Given the description of an element on the screen output the (x, y) to click on. 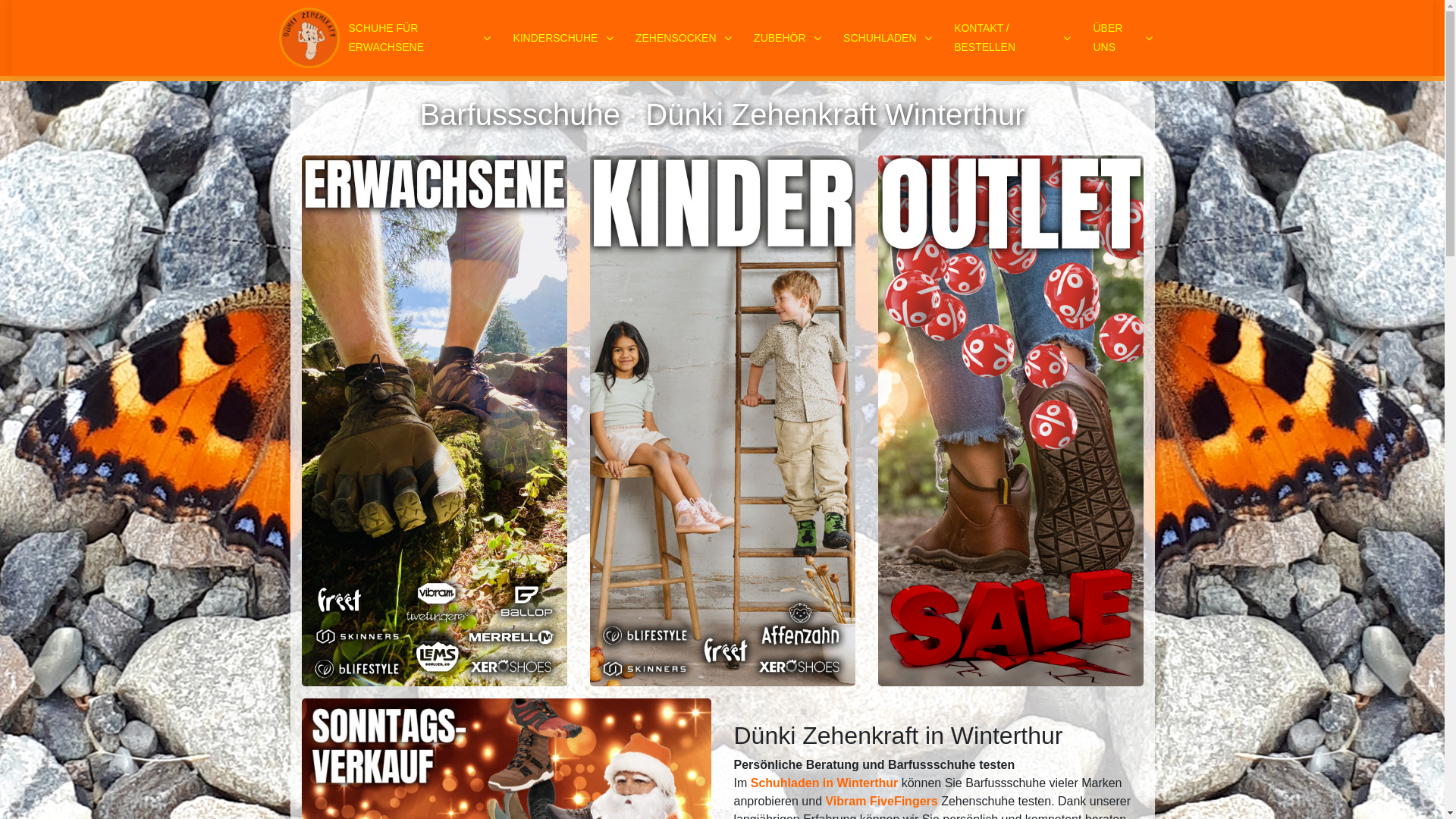
KINDERSCHUHE Element type: text (564, 37)
Schuhladen in Winterthur Element type: text (824, 782)
SCHUHLADEN Element type: text (889, 37)
Vibram FiveFingers Element type: text (881, 800)
KONTAKT / BESTELLEN Element type: text (1013, 37)
ZEHENSOCKEN Element type: text (685, 37)
